Given the description of an element on the screen output the (x, y) to click on. 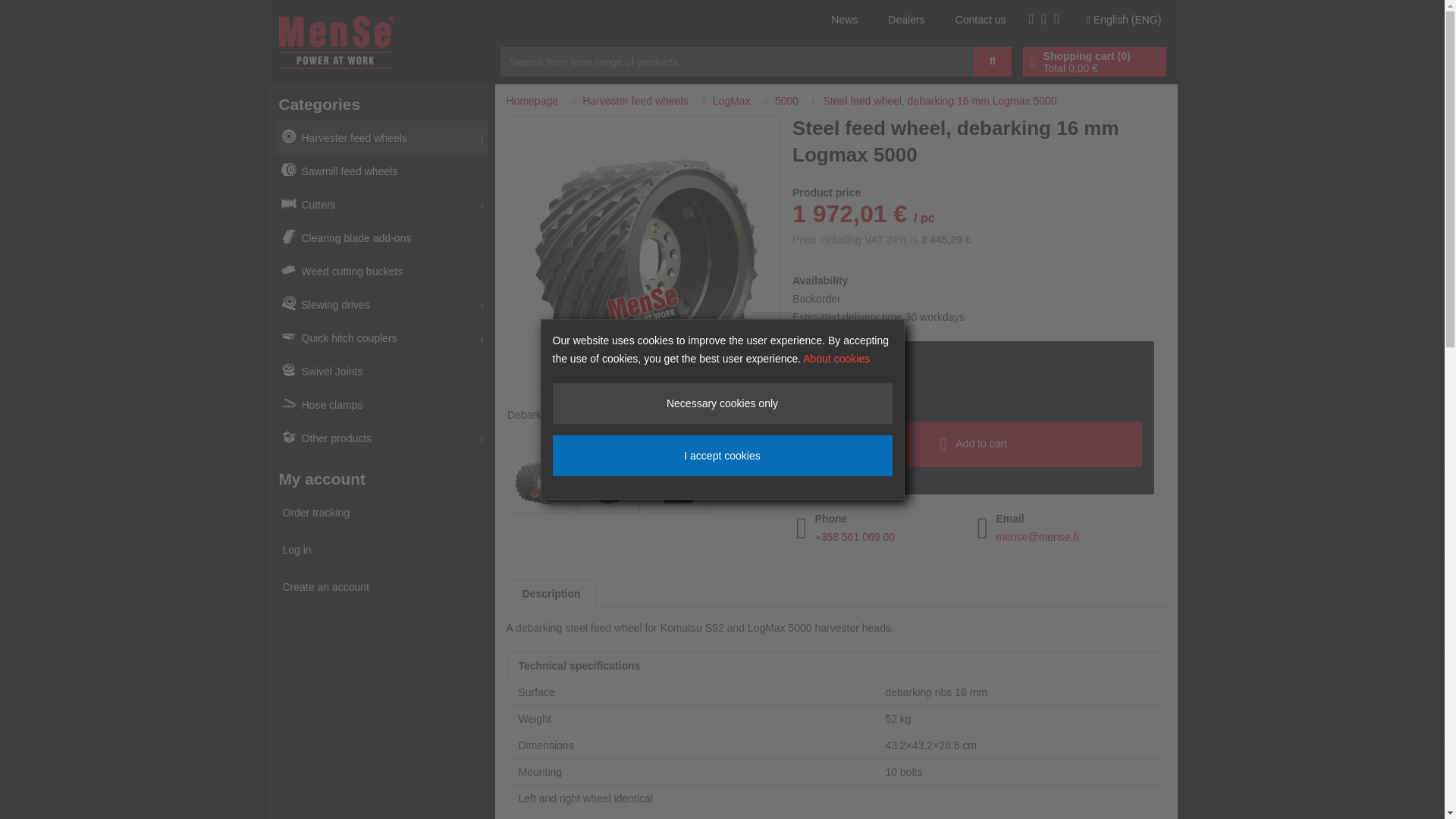
Harvester feed wheels (380, 137)
MenSe Oy (336, 41)
Search (992, 61)
Contact us (980, 19)
Dealers (906, 19)
News (844, 19)
News (844, 19)
Contact us (980, 19)
Change language (1123, 19)
Harvester feed wheels (380, 137)
